Given the description of an element on the screen output the (x, y) to click on. 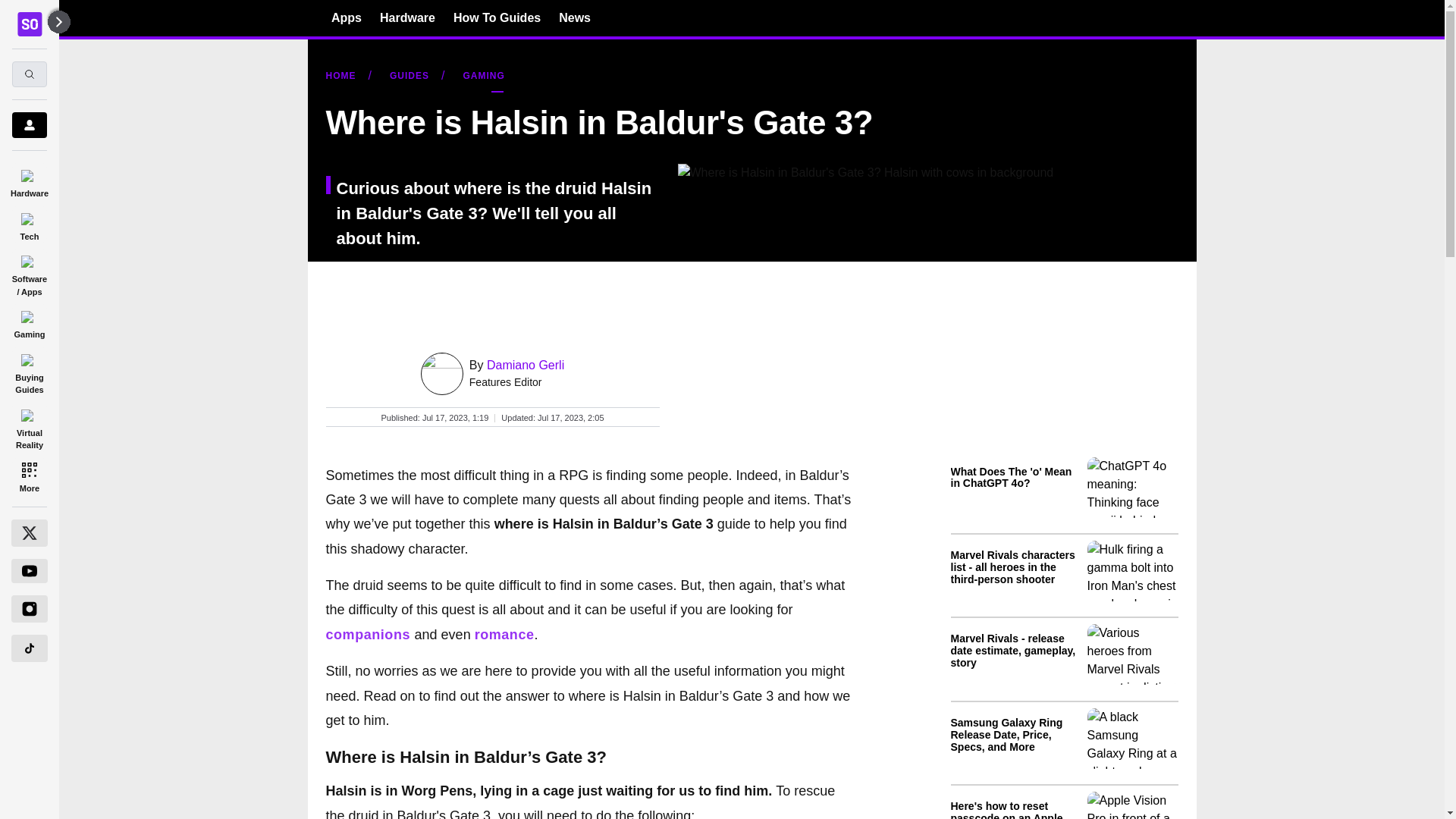
Gaming (28, 322)
News (575, 18)
Tech (28, 224)
How To Guides (496, 18)
Apps (346, 18)
Hardware (28, 180)
Hardware (407, 18)
More (28, 476)
